Given the description of an element on the screen output the (x, y) to click on. 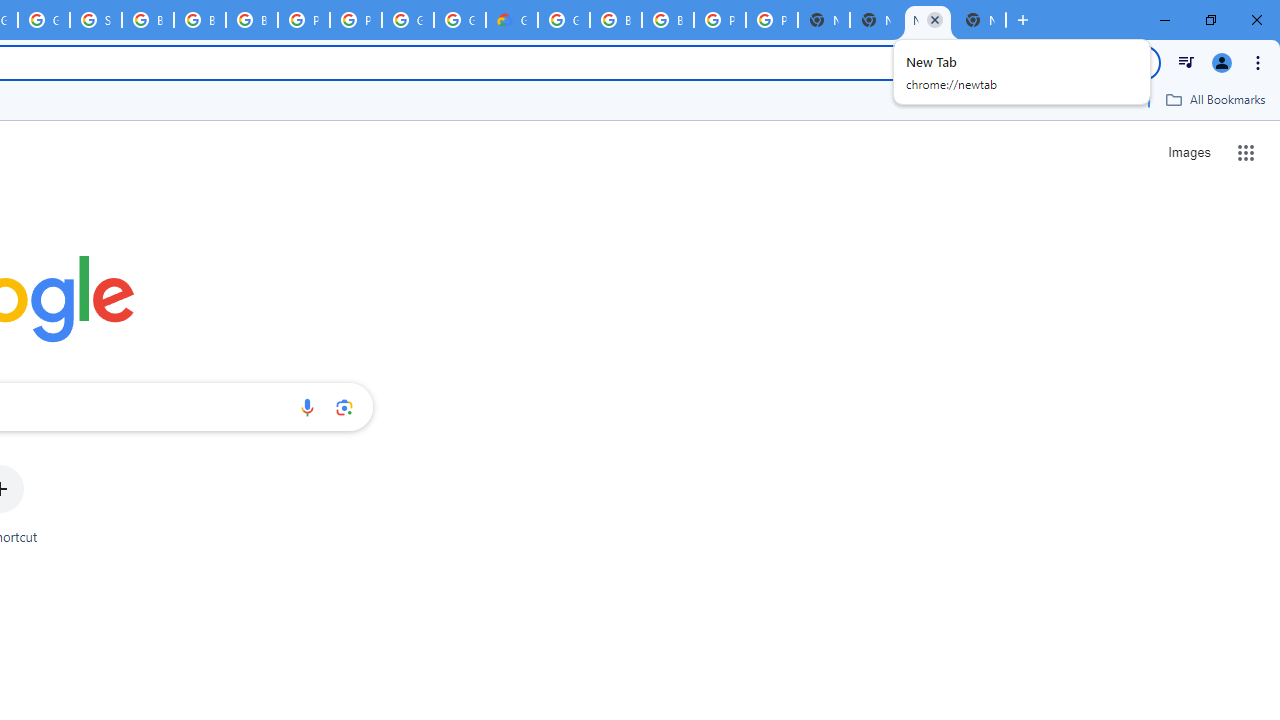
Sign in - Google Accounts (95, 20)
Browse Chrome as a guest - Computer - Google Chrome Help (200, 20)
Google Cloud Platform (459, 20)
